Given the description of an element on the screen output the (x, y) to click on. 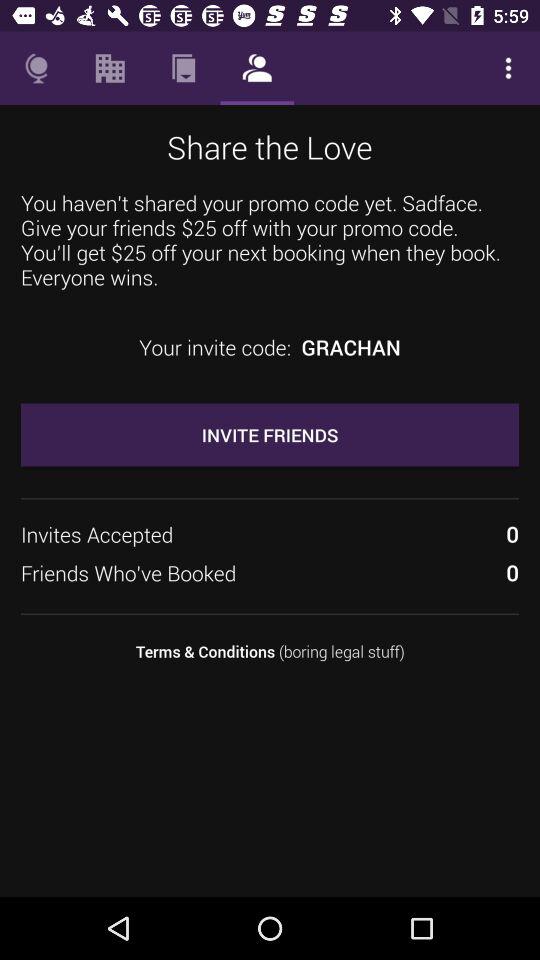
swipe until the terms conditions boring (270, 651)
